Given the description of an element on the screen output the (x, y) to click on. 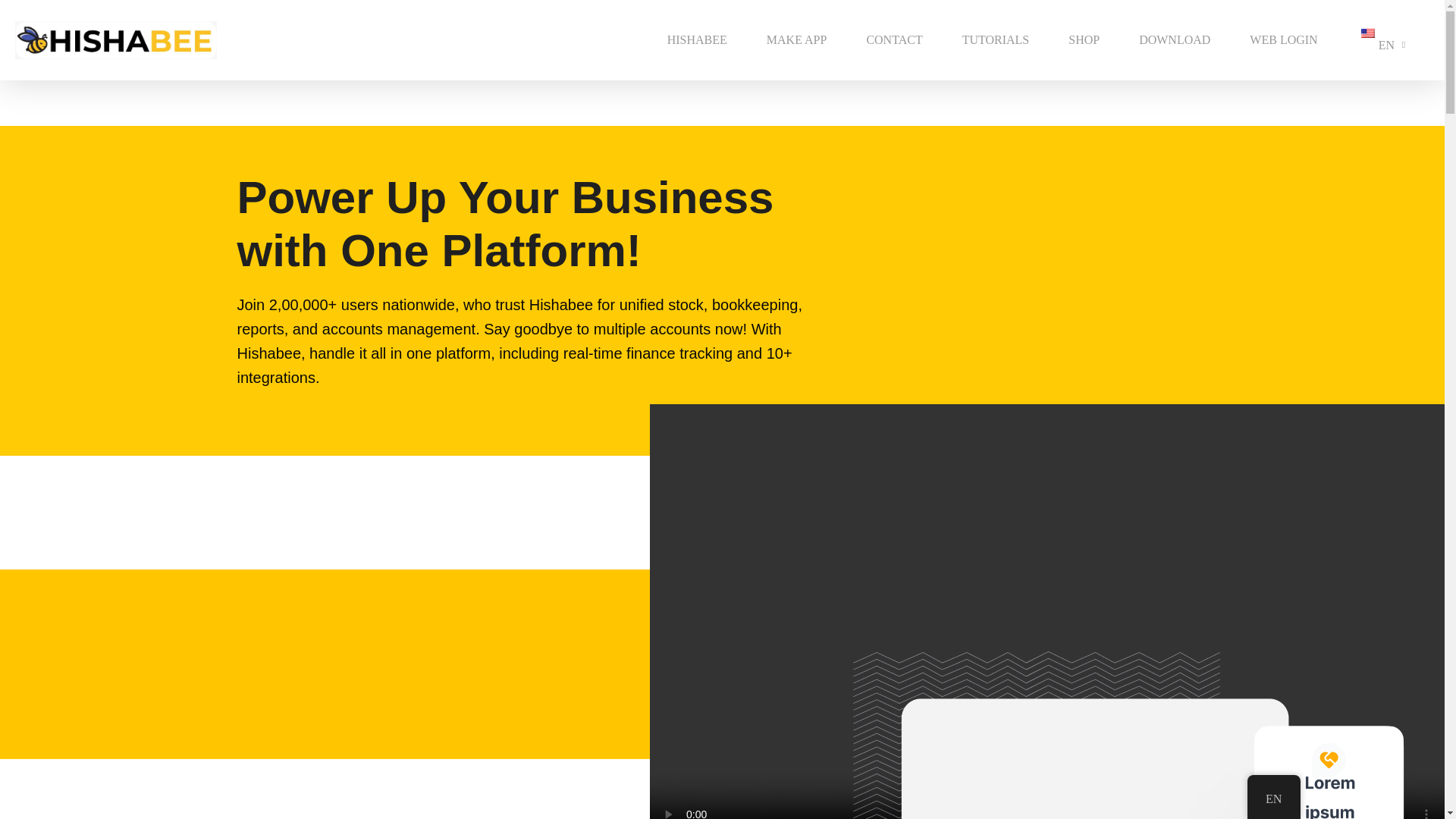
DOWNLOAD (1174, 39)
CONTACT (893, 39)
TUTORIALS (995, 39)
English (1367, 32)
EN (1383, 39)
MAKE APP (796, 39)
WEB LOGIN (1283, 39)
SHOP (1083, 39)
HISHABEE (696, 39)
